Given the description of an element on the screen output the (x, y) to click on. 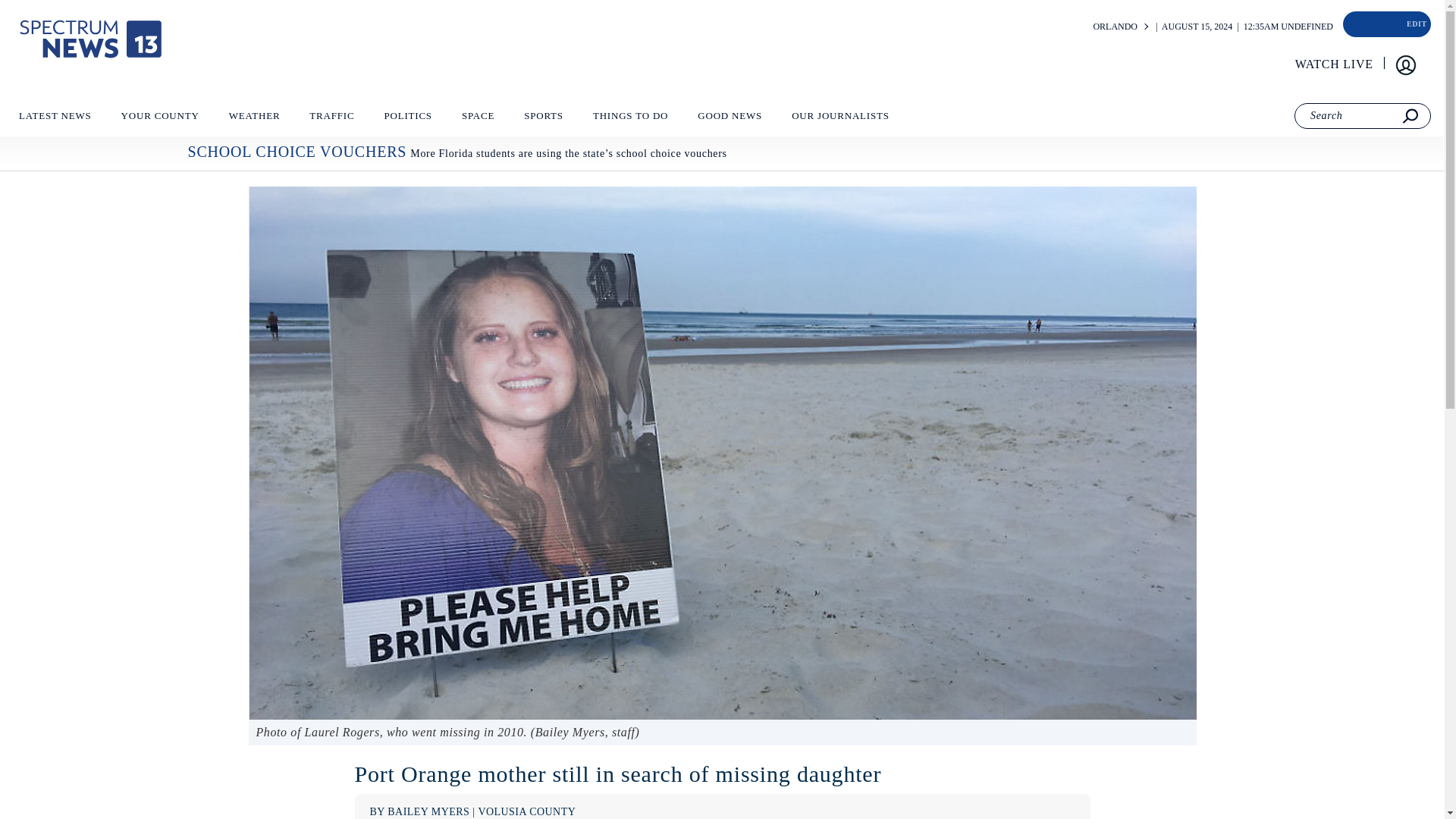
ORLANDO (1115, 26)
LATEST NEWS (55, 119)
WATCH LIVE (1334, 64)
